Given the description of an element on the screen output the (x, y) to click on. 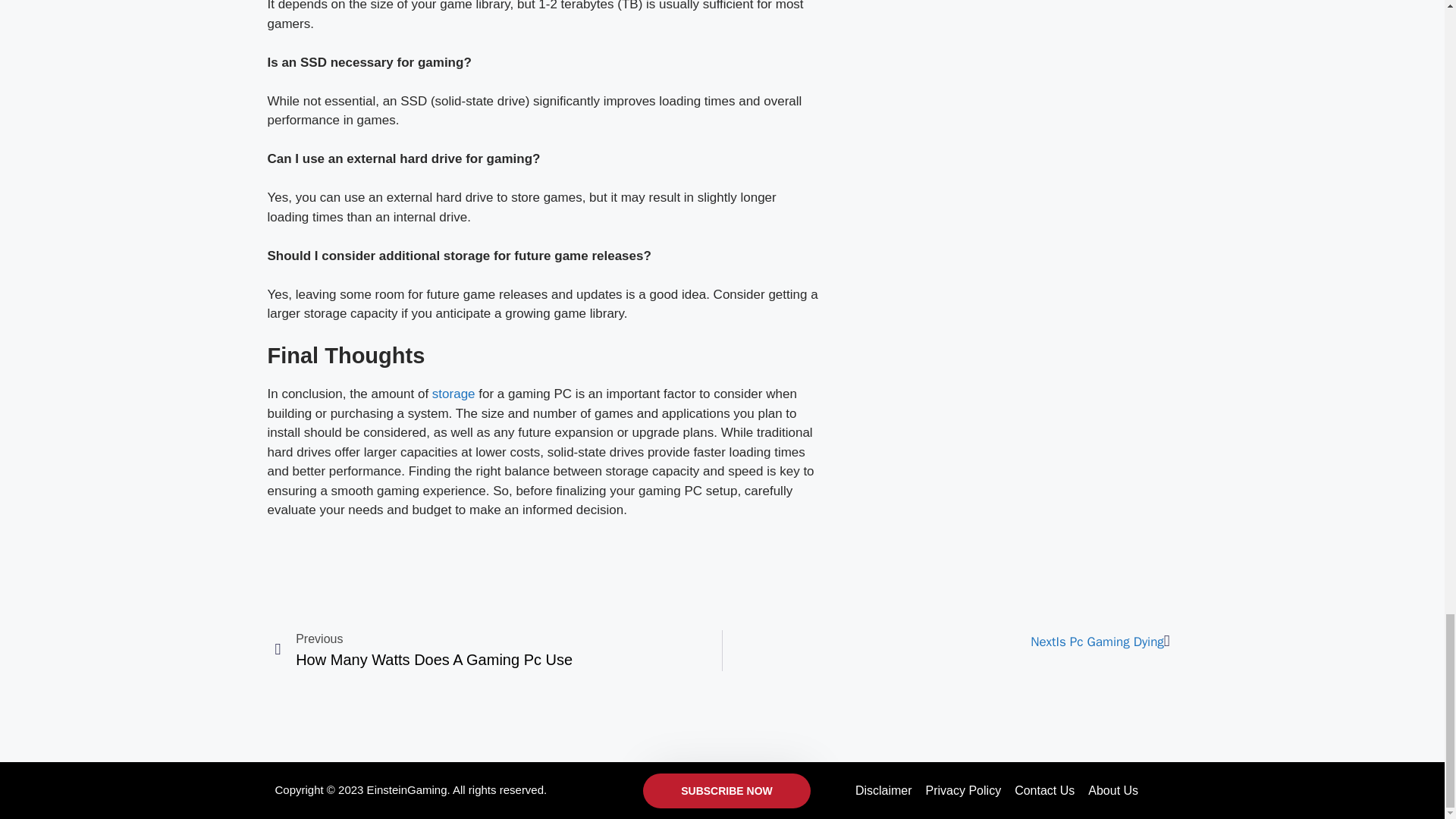
Contact Us (1044, 790)
Disclaimer (883, 790)
NextIs Pc Gaming Dying (946, 641)
SUBSCRIBE NOW (498, 649)
About Us (726, 790)
storage (1112, 790)
Privacy Policy (455, 393)
